Given the description of an element on the screen output the (x, y) to click on. 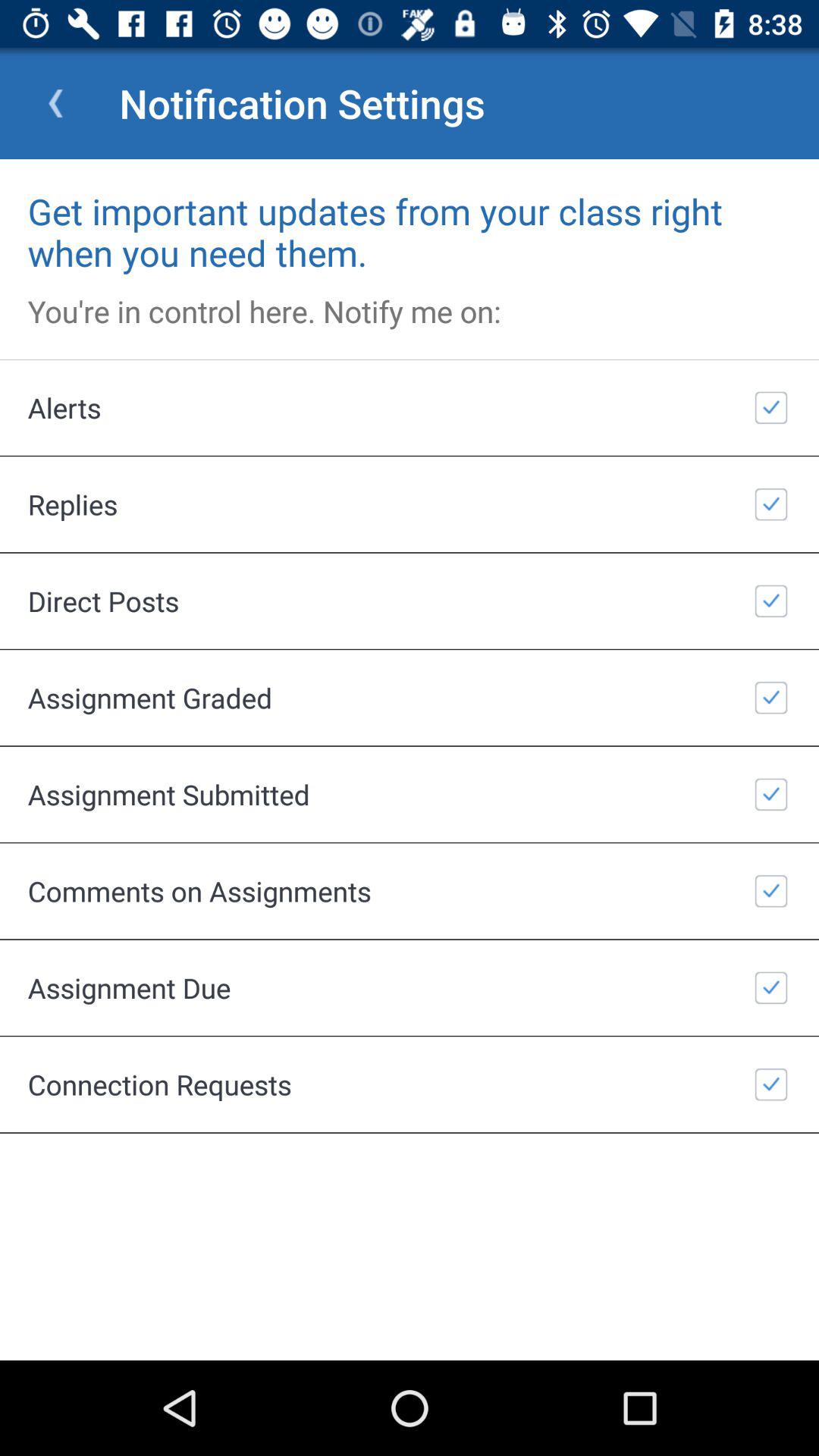
tap the icon below the replies item (409, 601)
